Given the description of an element on the screen output the (x, y) to click on. 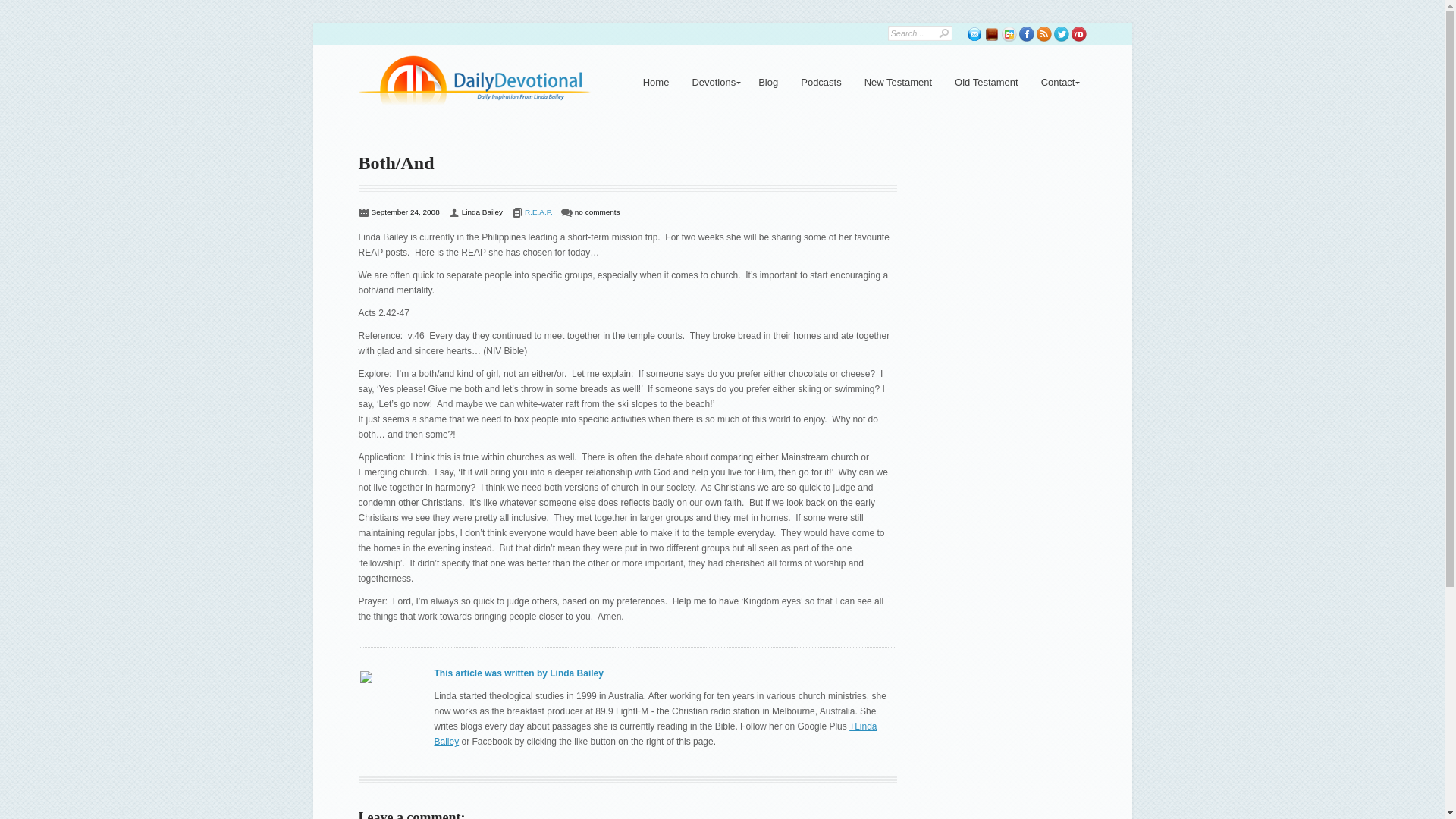
no comments (597, 212)
Search... (908, 32)
New Testament Devotions (898, 82)
Linda Bailey (481, 212)
Old Testament (986, 82)
Advertisement (1021, 251)
Search... (908, 32)
Christian Podcasts (820, 82)
Podcasts (820, 82)
New Testament (898, 82)
Devotions (712, 82)
Daily Devotions (712, 82)
New Testament Devotional (986, 82)
R.E.A.P. (538, 212)
